Given the description of an element on the screen output the (x, y) to click on. 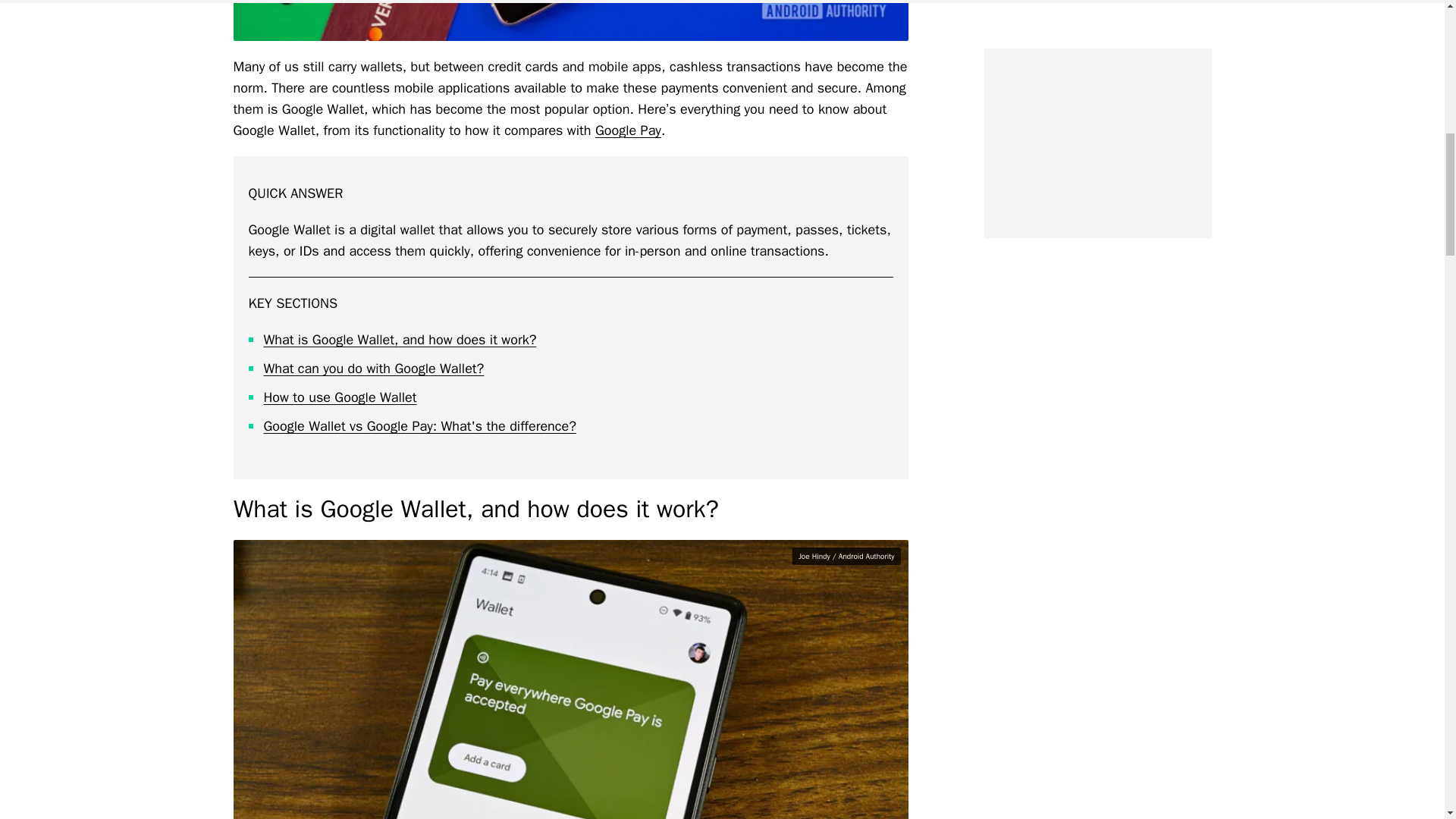
What can you do with Google Wallet? (373, 368)
What is Google Wallet, and how does it work? (400, 339)
Google Pay (628, 130)
How to use Google Wallet (339, 397)
Google Wallet vs Google Pay: What's the difference? (419, 425)
